Given the description of an element on the screen output the (x, y) to click on. 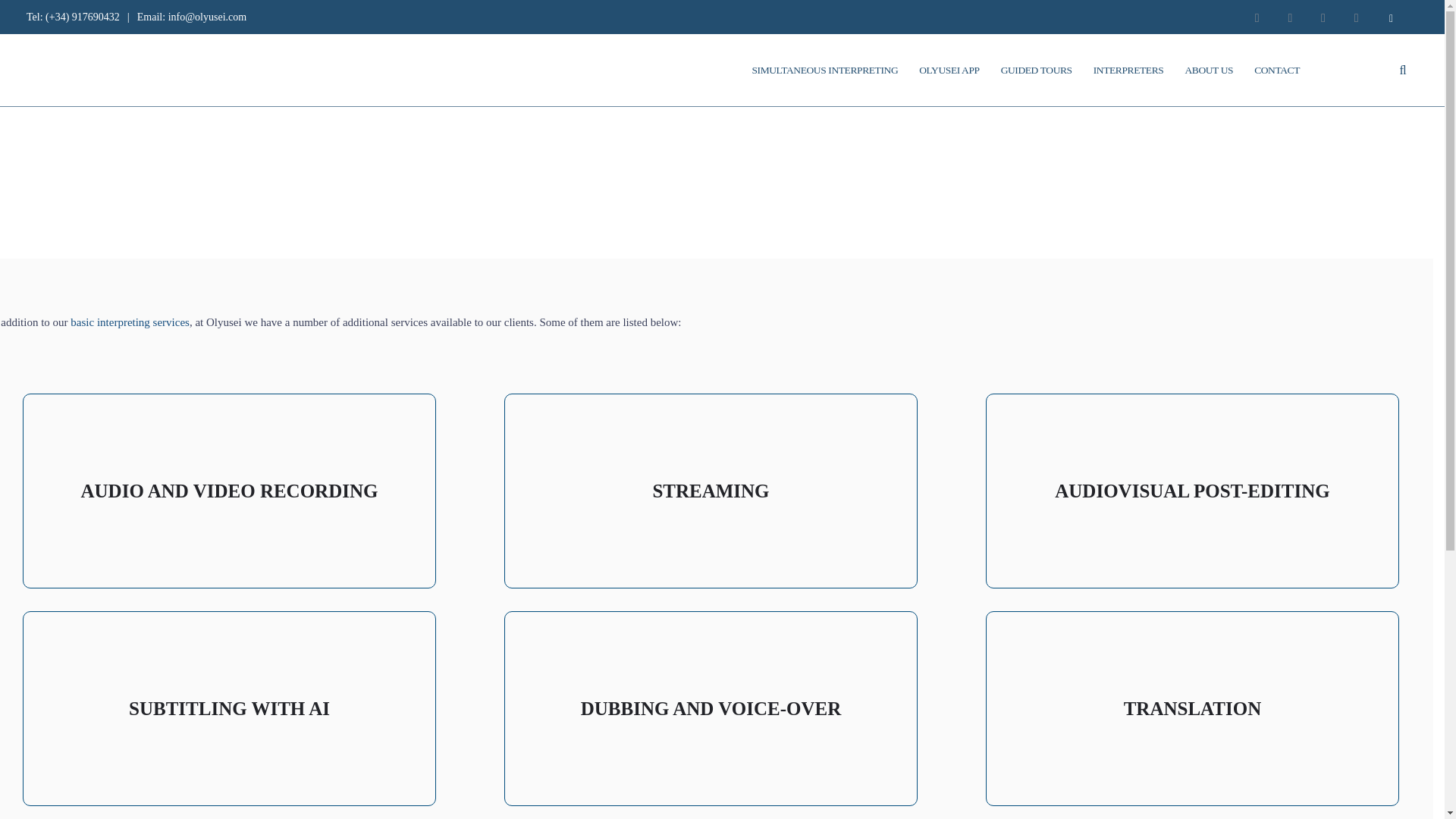
SIMULTANEOUS INTERPRETING (824, 69)
OLYUSEI APP (948, 69)
basic interpreting services (128, 322)
INTERPRETERS (1128, 69)
GUIDED TOURS (1036, 69)
